Given the description of an element on the screen output the (x, y) to click on. 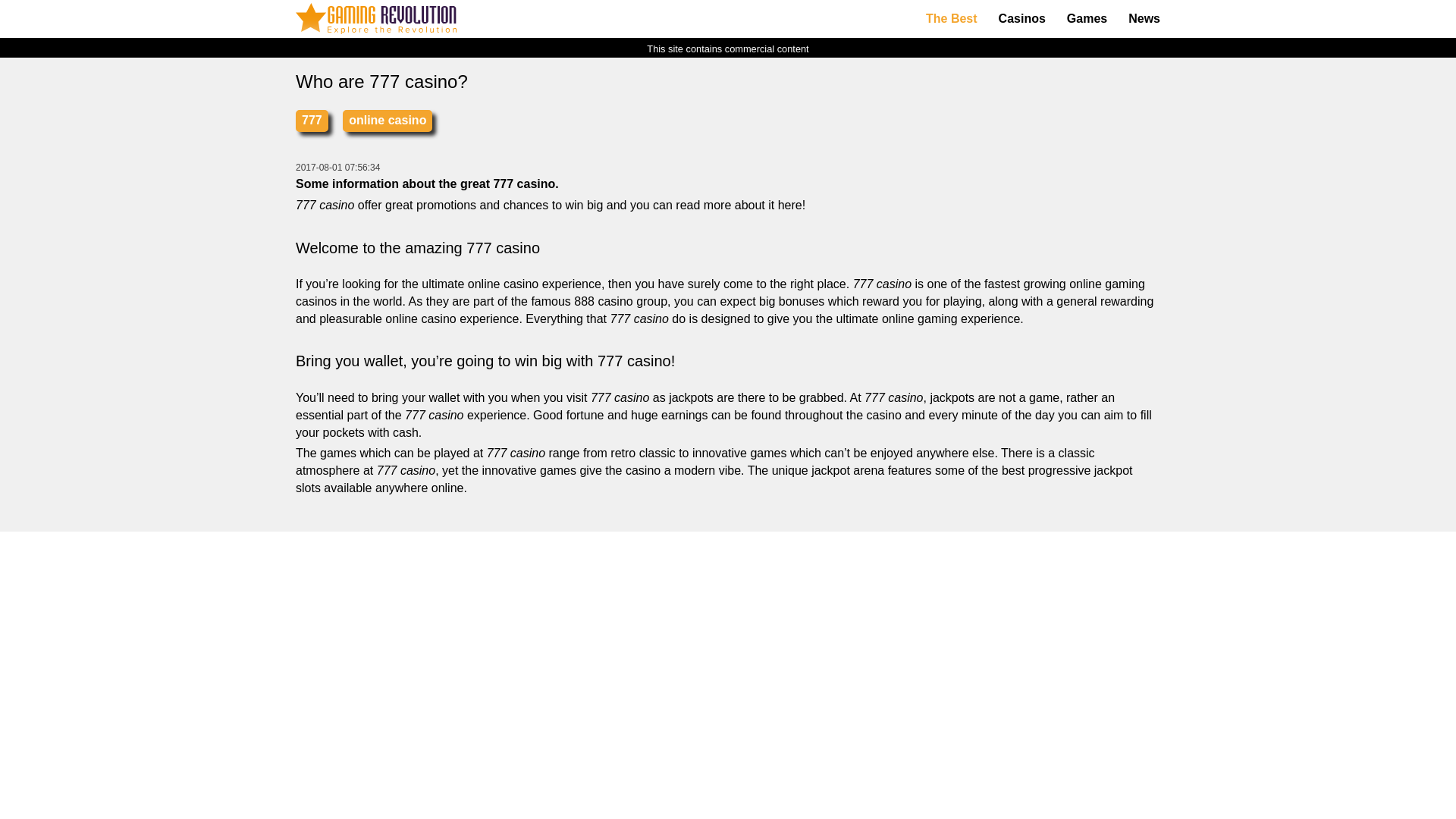
online casino (387, 120)
The Best (951, 19)
777 (312, 120)
Games (1087, 19)
News (1144, 19)
Casinos (1022, 19)
